Given the description of an element on the screen output the (x, y) to click on. 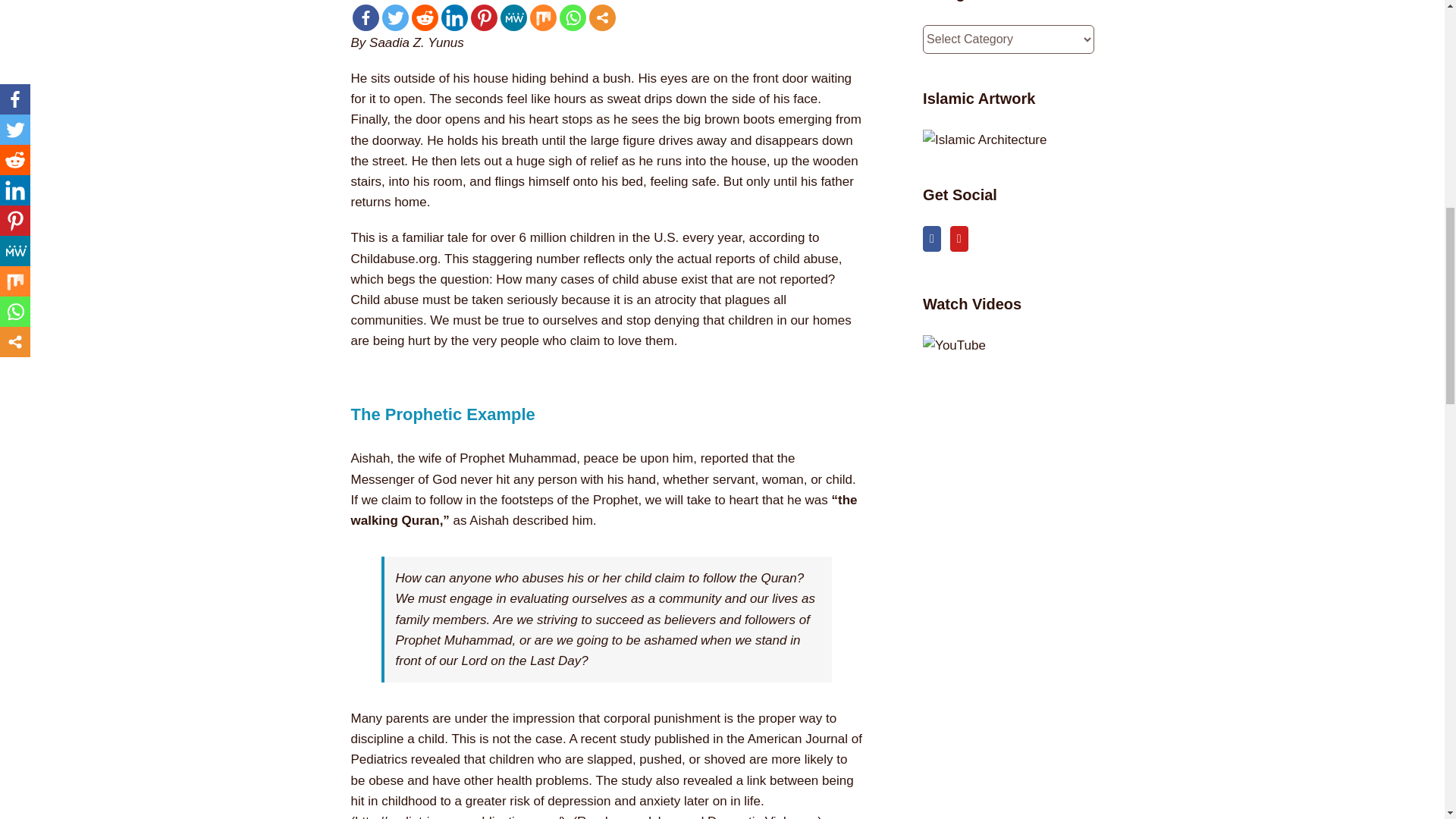
Whatsapp (572, 17)
MeWe (513, 17)
Twitter (395, 17)
Pinterest (483, 17)
Reddit (424, 17)
LinkedIn (454, 17)
Mix (542, 17)
More (601, 17)
Facebook (365, 17)
